Given the description of an element on the screen output the (x, y) to click on. 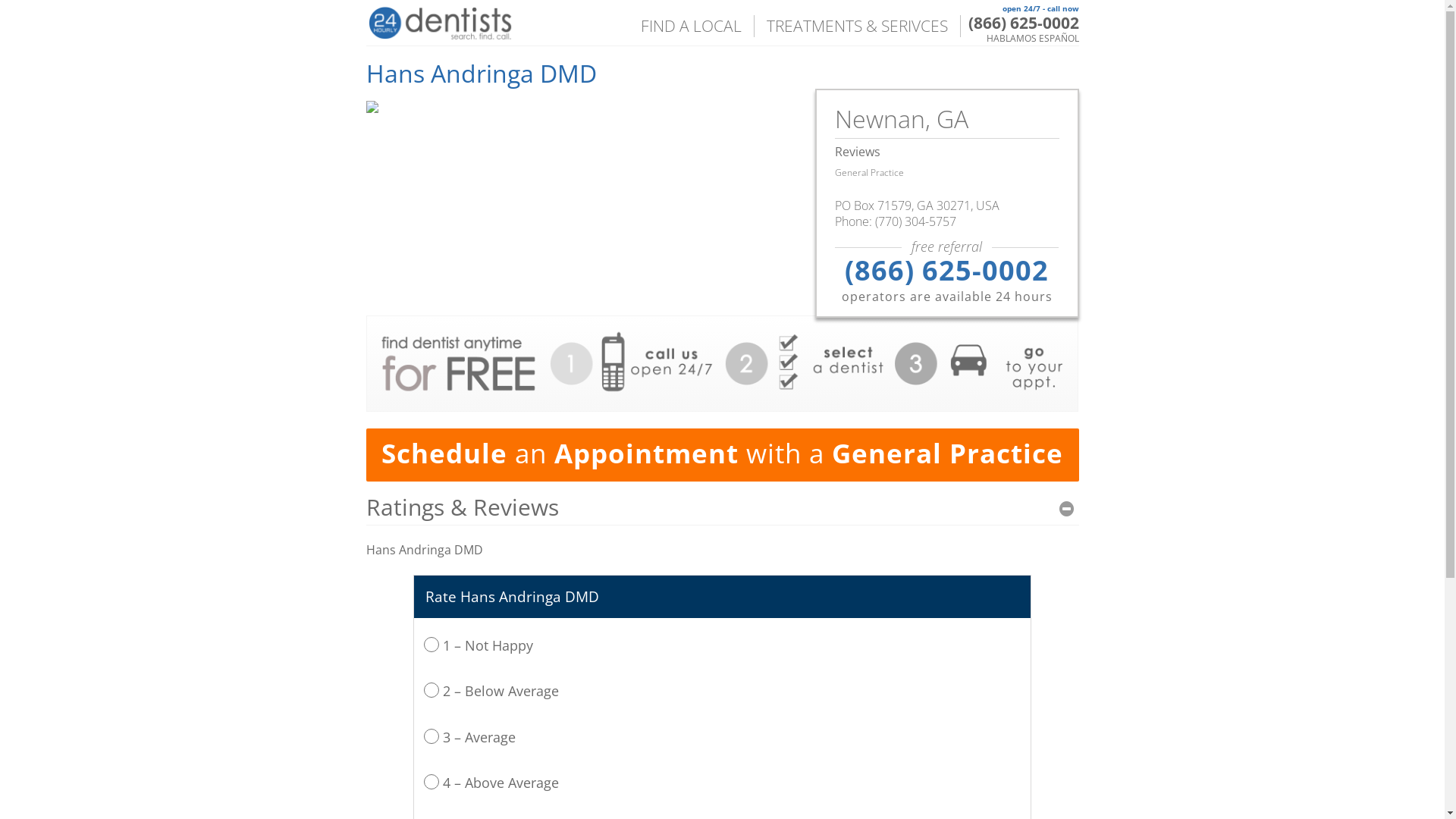
TREATMENTS & SERIVCES Element type: text (856, 26)
FIND A LOCAL Element type: text (690, 26)
Ratings & Reviews Element type: text (721, 506)
